Given the description of an element on the screen output the (x, y) to click on. 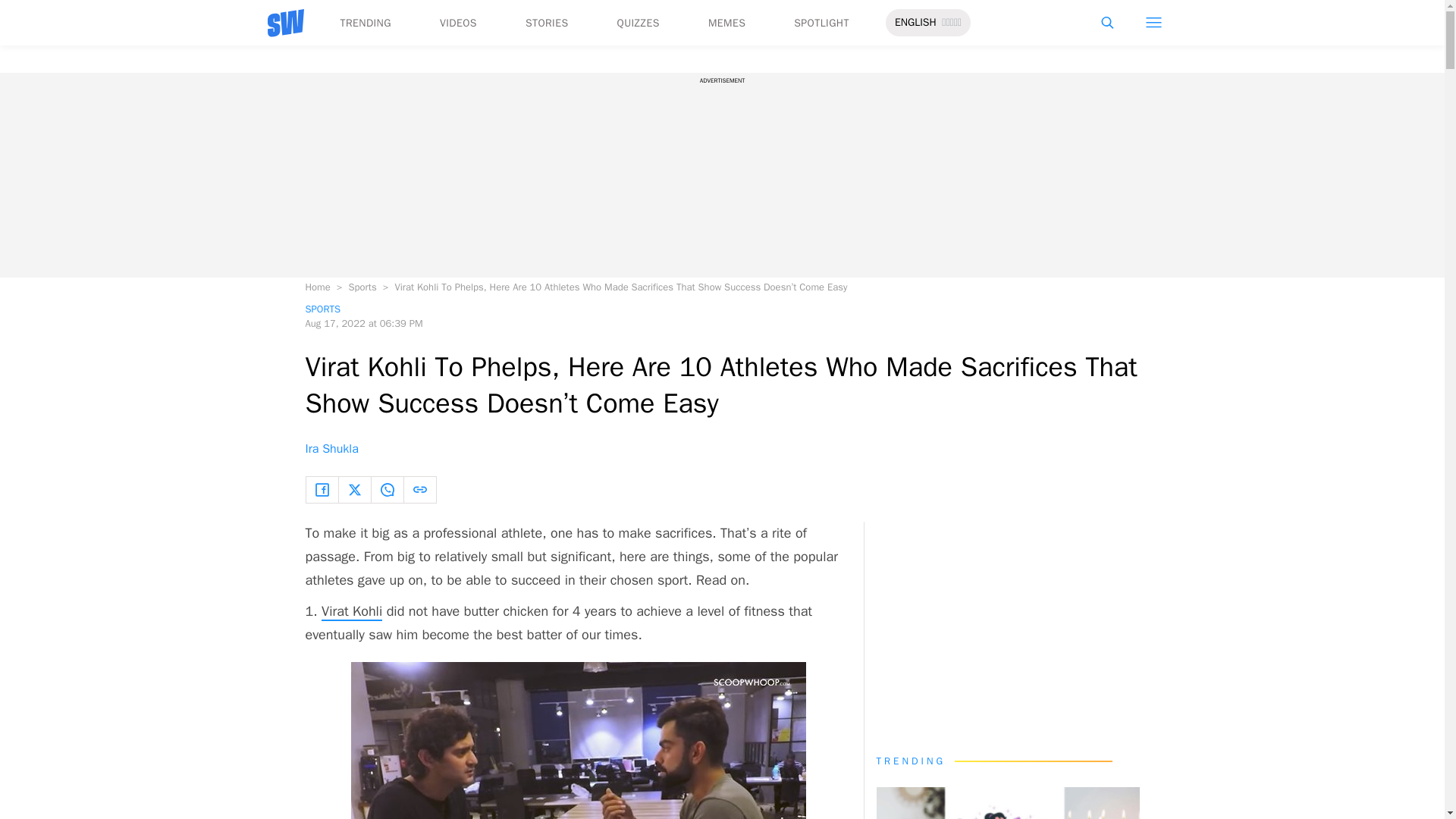
QUIZZES (638, 22)
TRENDING (364, 22)
STORIES (547, 22)
SPOTLIGHT (820, 22)
3rd party ad content (1007, 628)
MEMES (726, 22)
VIDEOS (458, 22)
ENGLISH (915, 22)
